Given the description of an element on the screen output the (x, y) to click on. 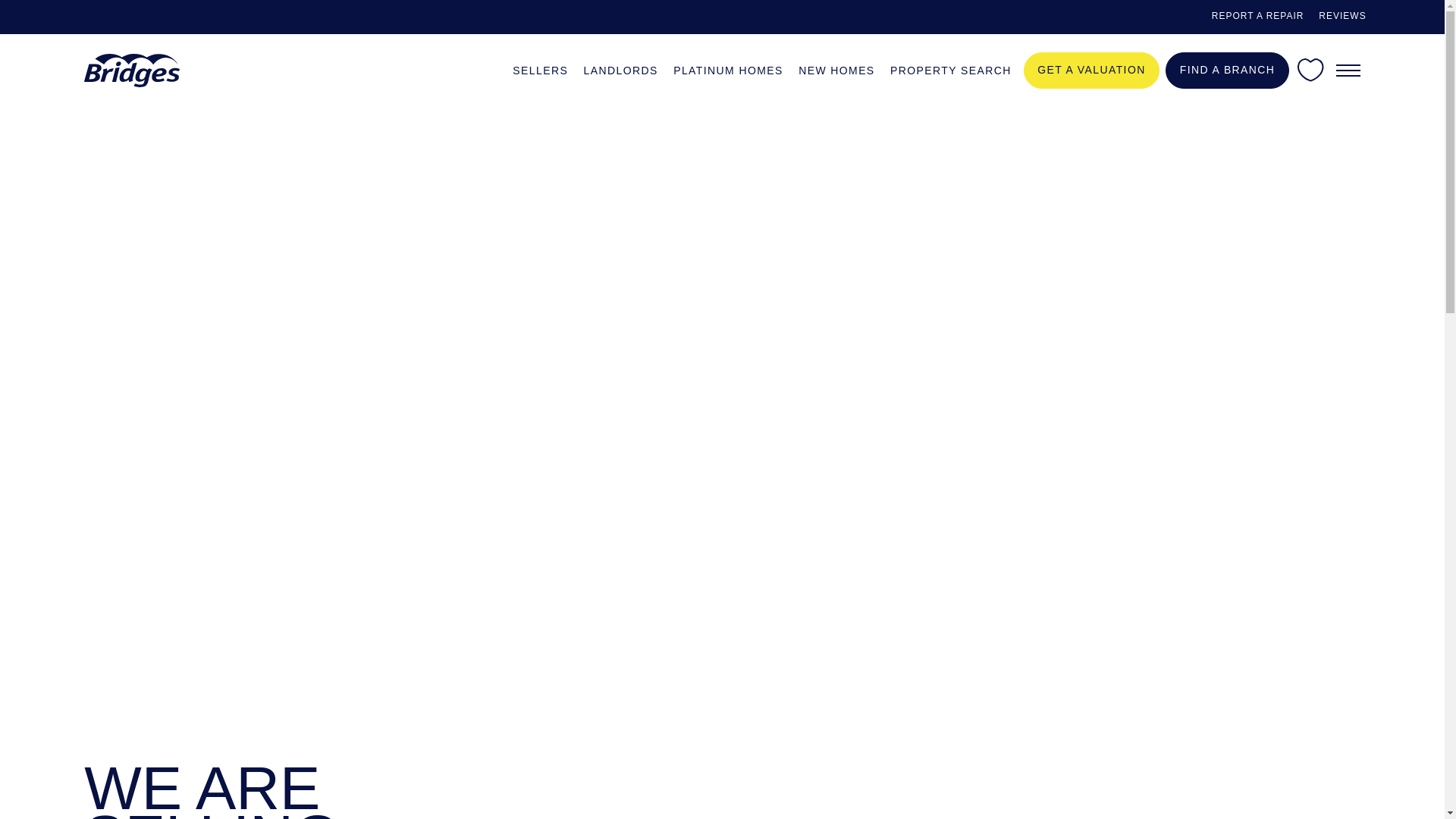
FIND A BRANCH (1227, 70)
REVIEWS (1342, 16)
NEW HOMES (836, 68)
LANDLORDS (620, 68)
GET A VALUATION (1091, 70)
SELLERS (539, 68)
PLATINUM HOMES (727, 68)
PROPERTY SEARCH (950, 68)
REPORT A REPAIR (1257, 16)
